Given the description of an element on the screen output the (x, y) to click on. 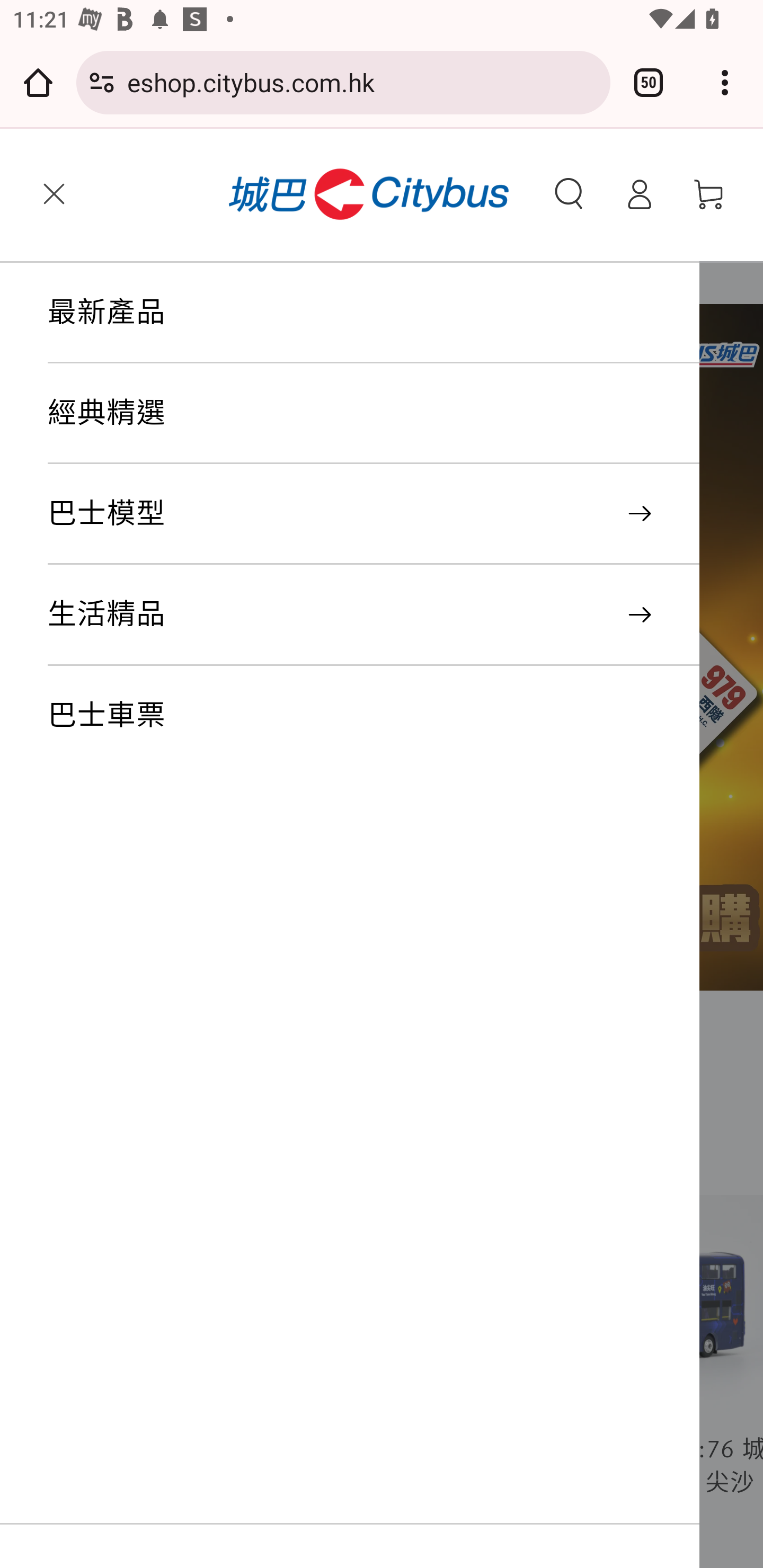
Open the home page (38, 82)
Connection is secure (101, 82)
Switch or close tabs (648, 82)
Customize and control Google Chrome (724, 82)
eshop.citybus.com.hk (362, 82)
菜單 (54, 194)
搜索我們的網站 (569, 194)
登錄 (638, 194)
購物車 (708, 194)
最新產品 (373, 312)
經典精選 (373, 413)
巴士模型 (373, 515)
生活精品 (373, 615)
巴士車票 (373, 715)
